Given the description of an element on the screen output the (x, y) to click on. 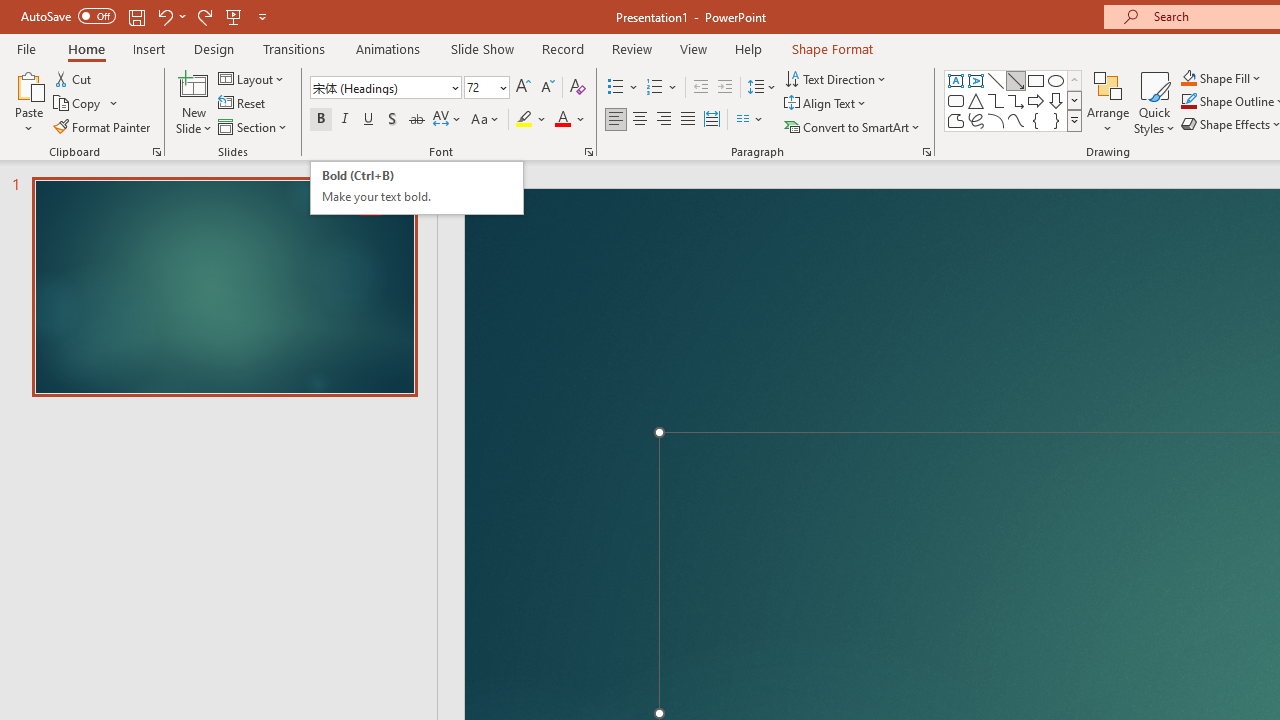
Connector: Elbow Arrow (1016, 100)
Shape Outline Blue, Accent 1 (1188, 101)
Text Highlight Color (531, 119)
Font (385, 87)
Connector: Elbow (995, 100)
Format Painter (103, 126)
Paste (28, 102)
Underline (369, 119)
Columns (750, 119)
Font (379, 87)
Shapes (1074, 120)
Copy (78, 103)
Distributed (712, 119)
